Given the description of an element on the screen output the (x, y) to click on. 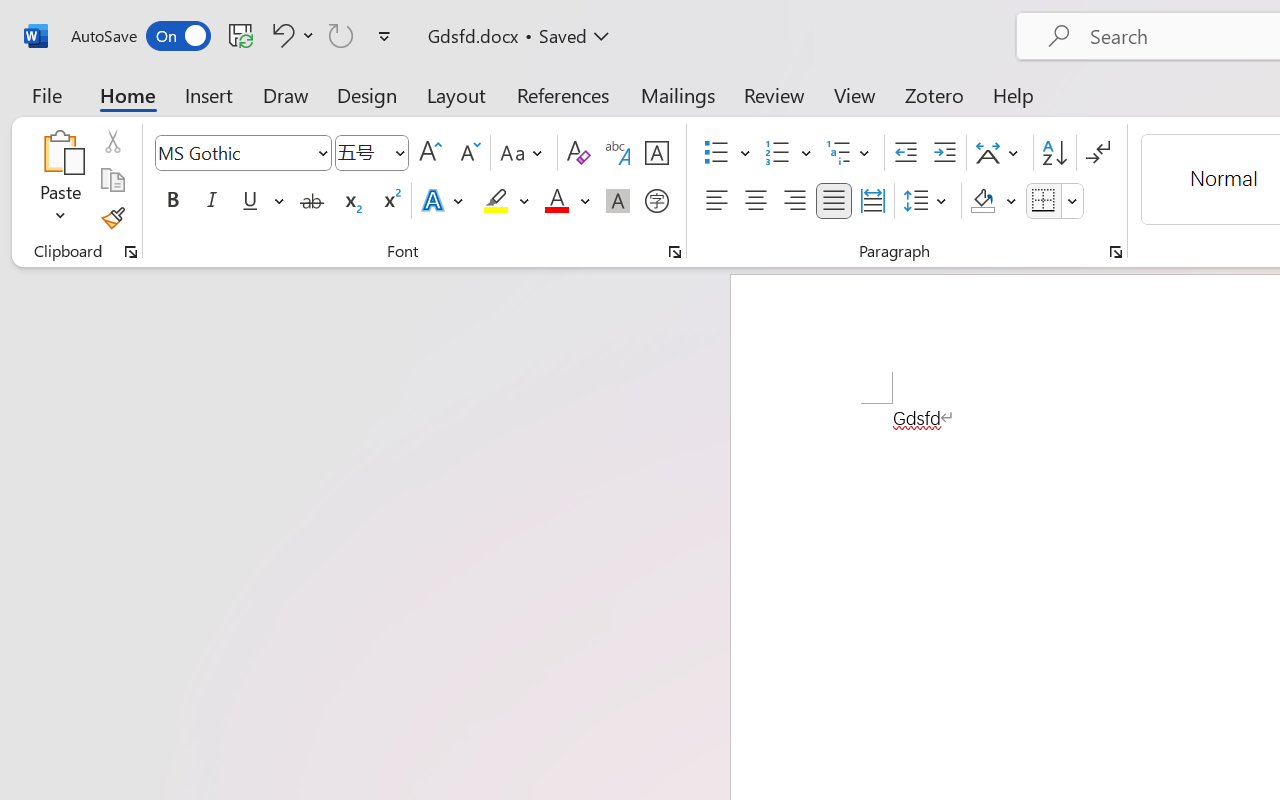
Shading RGB(0, 0, 0) (982, 201)
Can't Repeat (341, 35)
